Given the description of an element on the screen output the (x, y) to click on. 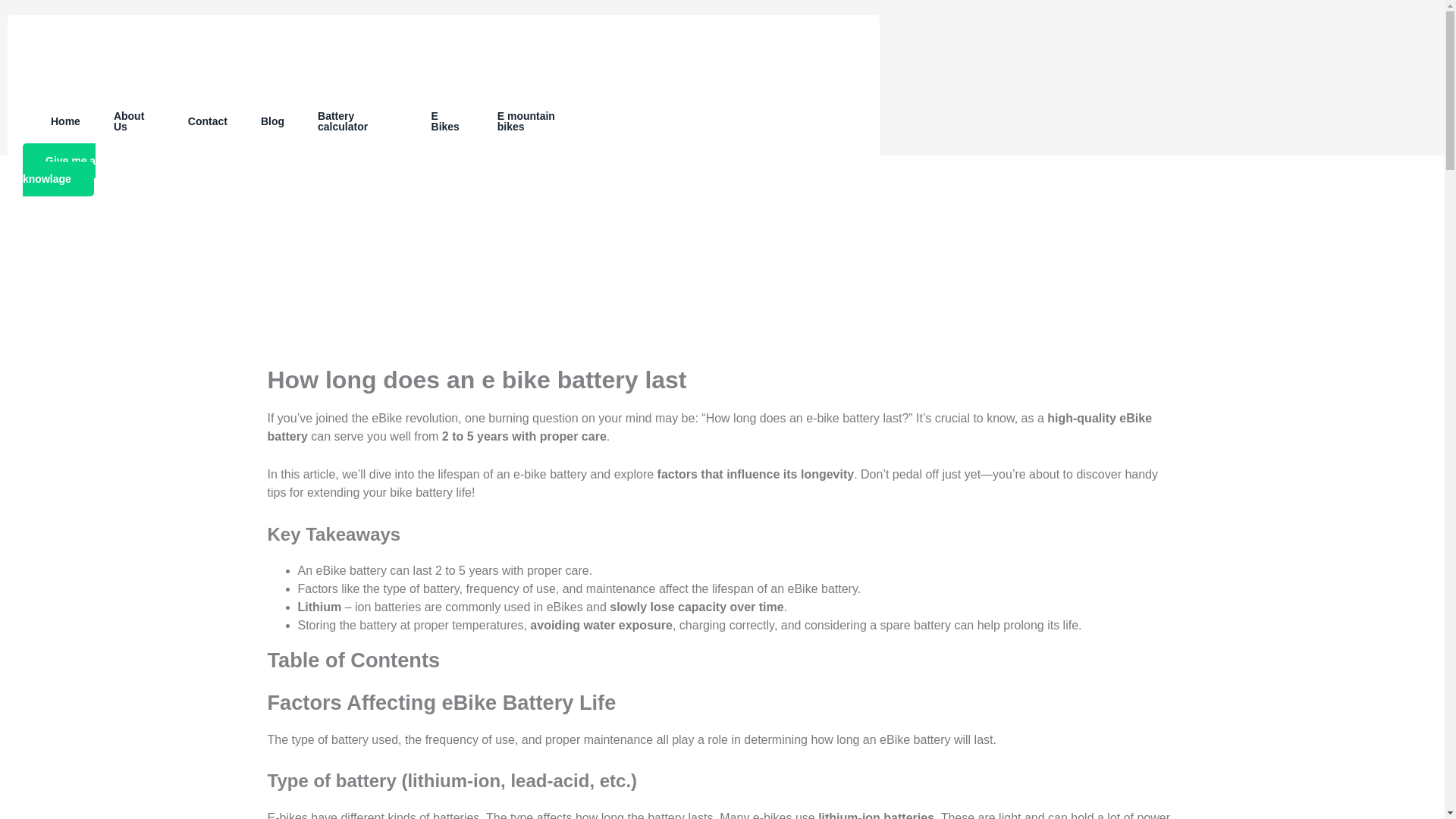
Contact (207, 120)
E Bikes (447, 120)
Home (65, 120)
Give me a knowlage (59, 169)
About Us (134, 120)
Blog (272, 120)
E mountain bikes (536, 120)
Battery calculator (357, 120)
